Given the description of an element on the screen output the (x, y) to click on. 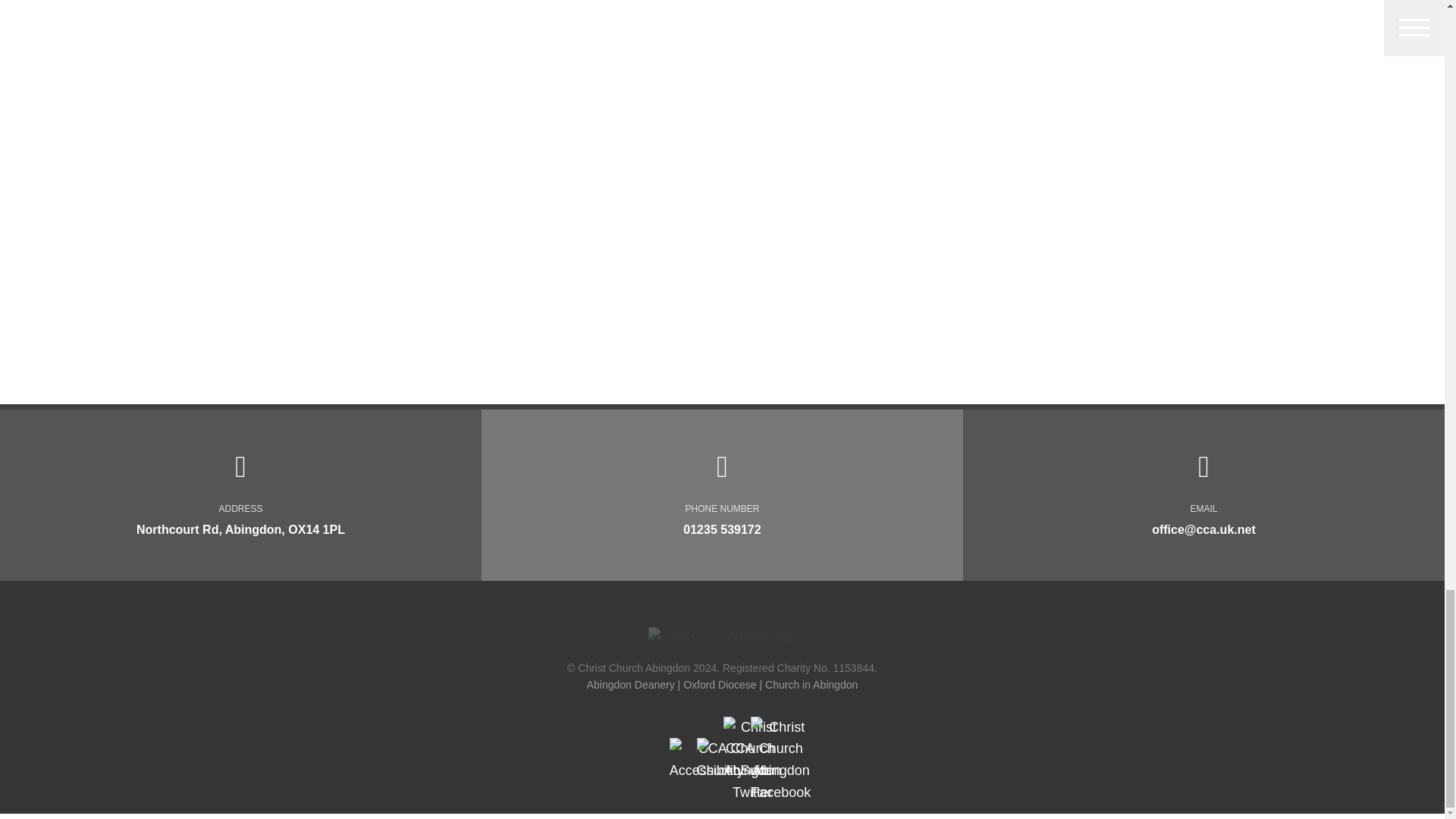
Church in Abingdon (811, 684)
CCA Accessibility (706, 759)
Oxford Diocese (718, 684)
Abingdon Deanery (630, 684)
CCA Facebook (780, 759)
CCA Twitter (751, 759)
CCA ChurchSuite (734, 759)
